Given the description of an element on the screen output the (x, y) to click on. 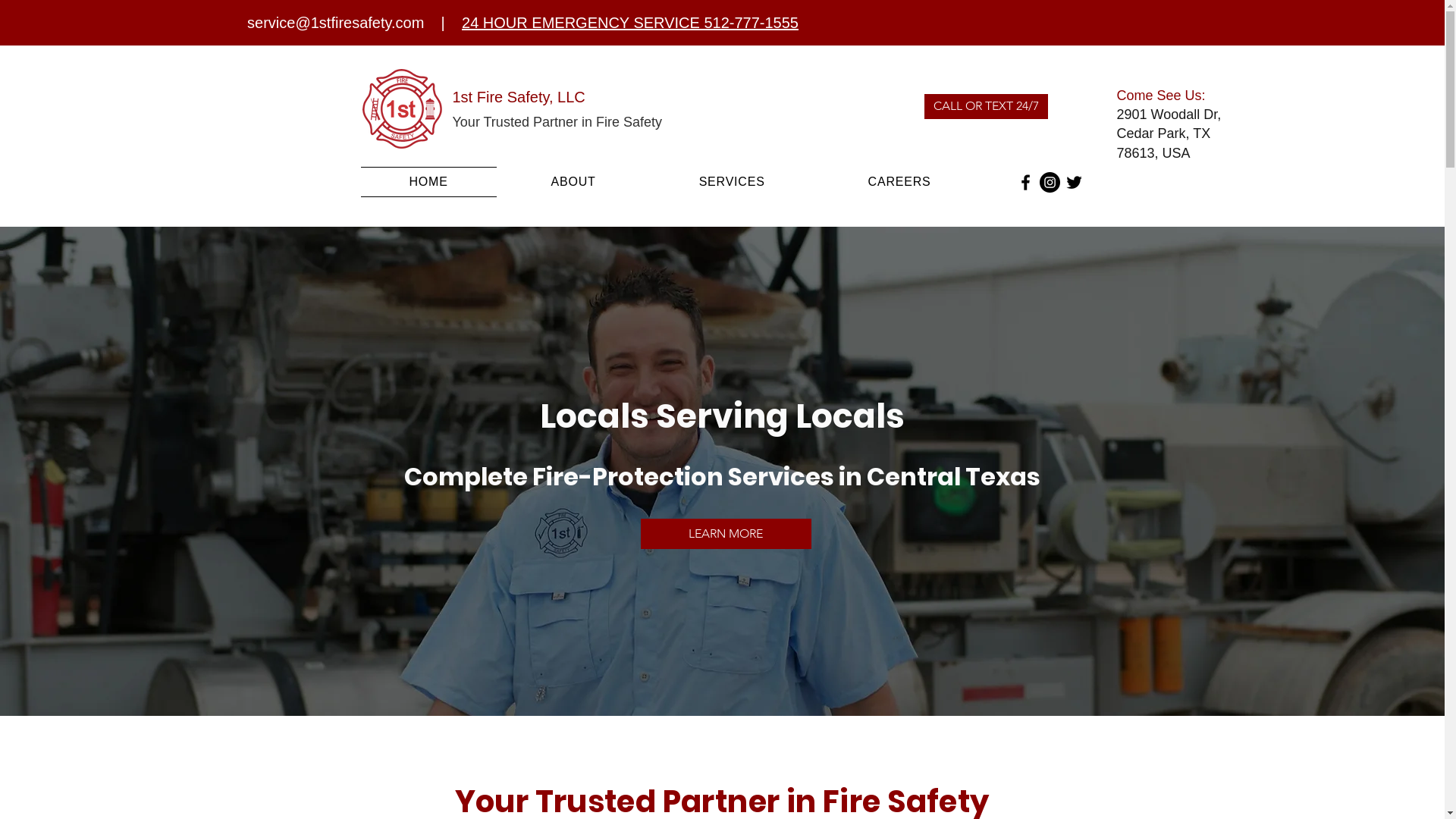
HOME Element type: text (428, 181)
24 HOUR EMERGENCY SERVICE 512-777-1555 Element type: text (629, 22)
ABOUT Element type: text (573, 181)
CALL OR TEXT 24/7 Element type: text (985, 106)
2901 Woodall Dr, Cedar Park, TX 78613, USA Element type: text (1168, 133)
service@1stfiresafety.com Element type: text (335, 22)
Come See Us: Element type: text (1160, 95)
CAREERS Element type: text (899, 181)
LEARN MORE Element type: text (725, 533)
1st Fire Safety, LLC Element type: text (517, 96)
SERVICES Element type: text (731, 181)
